Given the description of an element on the screen output the (x, y) to click on. 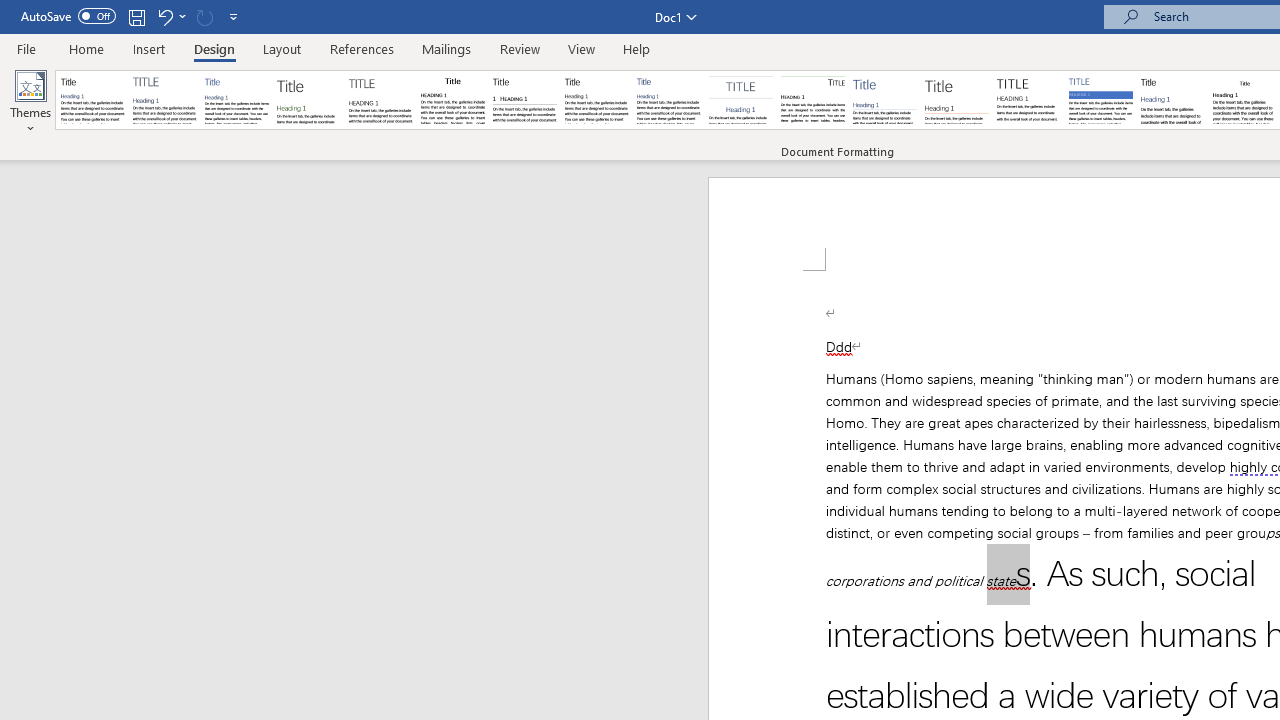
Black & White (Capitalized) (381, 100)
Centered (740, 100)
Black & White (Numbered) (524, 100)
Can't Repeat (204, 15)
Document (93, 100)
Themes (30, 102)
Black & White (Classic) (452, 100)
Lines (Stylish) (957, 100)
Casual (669, 100)
